Given the description of an element on the screen output the (x, y) to click on. 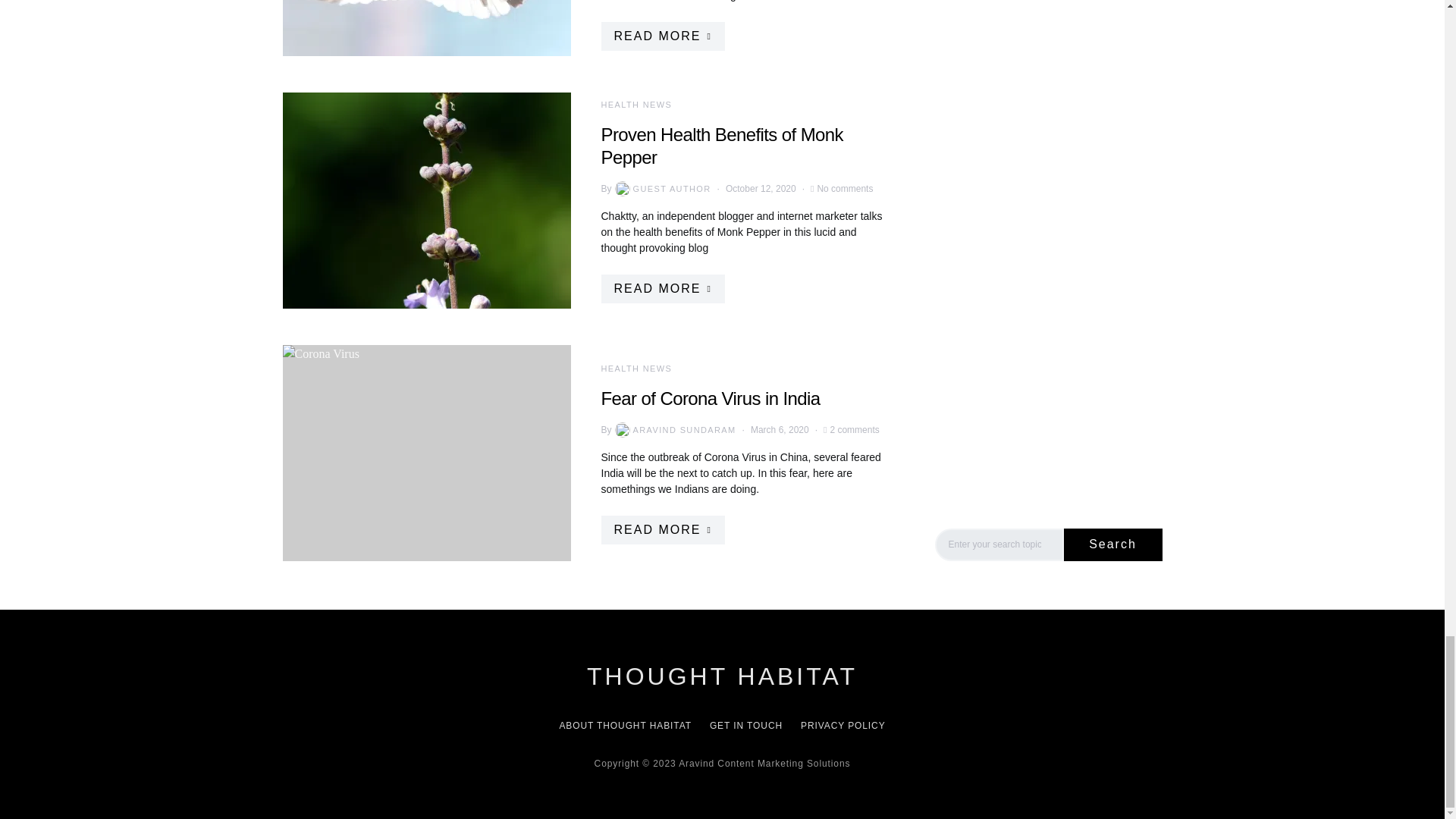
View all posts by Aravind Sundaram (673, 429)
View all posts by Guest Author (661, 188)
